Given the description of an element on the screen output the (x, y) to click on. 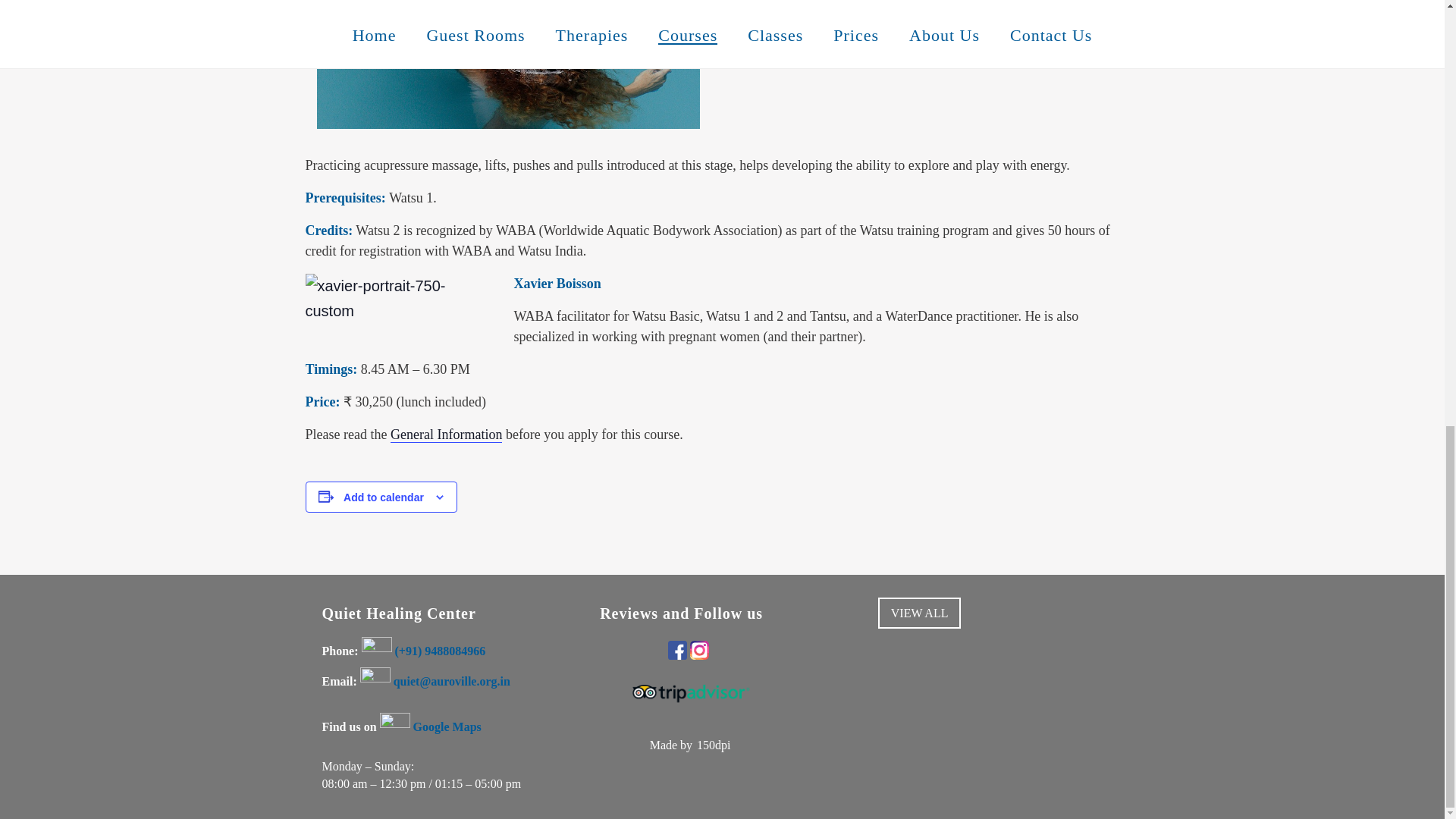
General Information (446, 434)
xavier-watsu-2-1000-13-custom (508, 64)
xavier-portrait-750-custom (397, 297)
Add to calendar (383, 497)
